Given the description of an element on the screen output the (x, y) to click on. 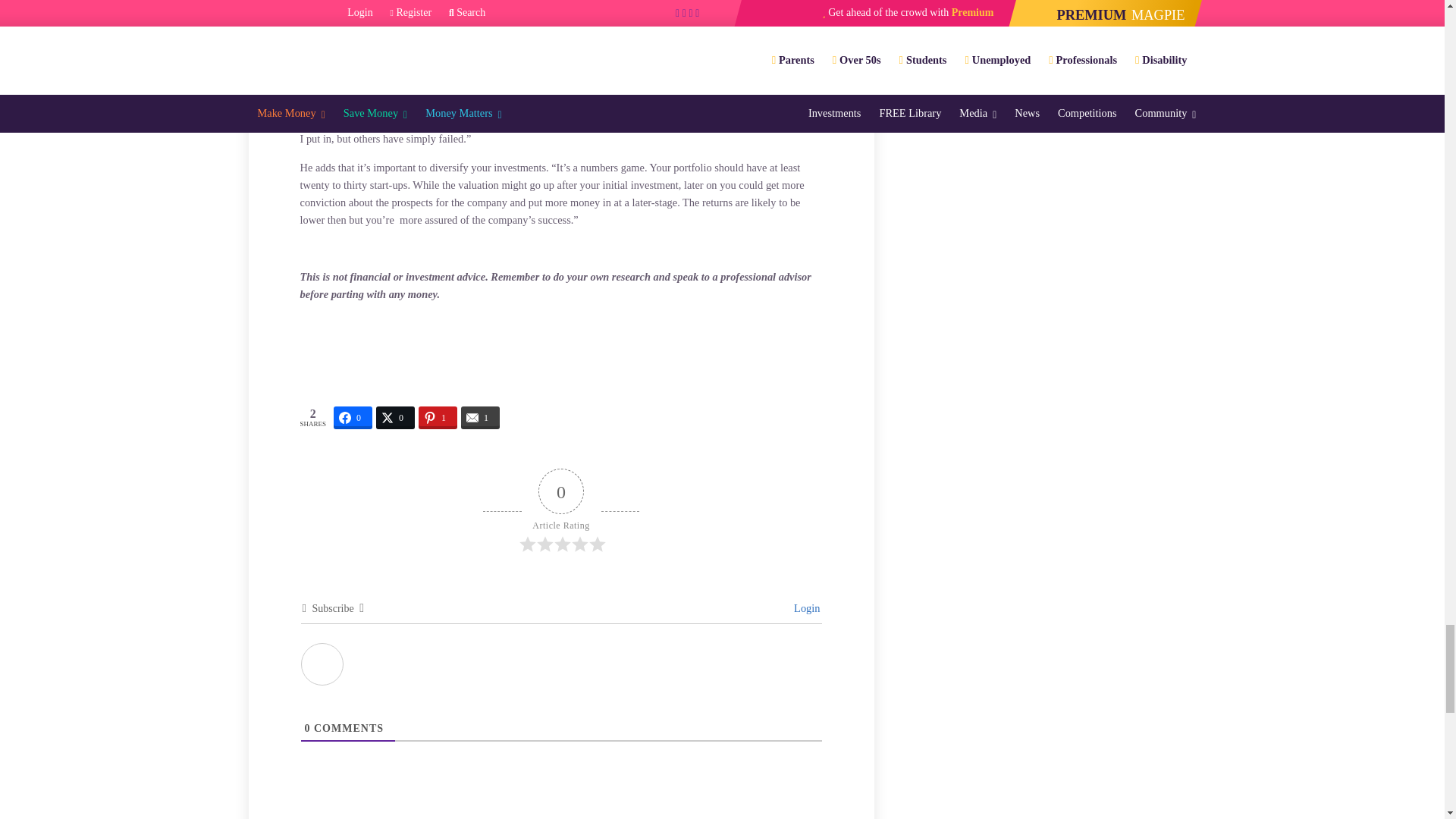
Share on Pinterest (438, 417)
Share on Email (480, 417)
Share on Twitter (394, 417)
Share on Facebook (352, 417)
